Given the description of an element on the screen output the (x, y) to click on. 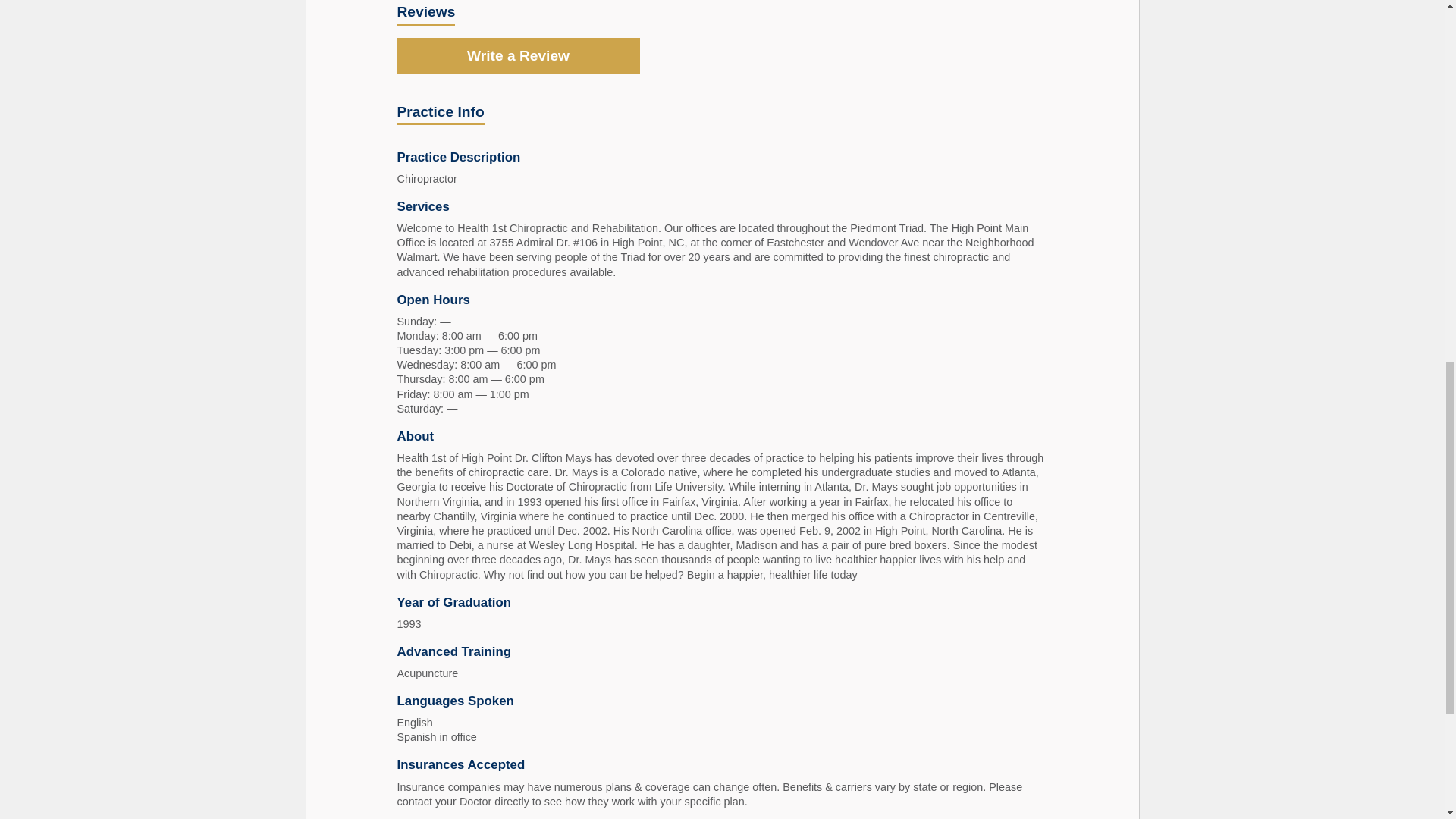
Write a Review (518, 55)
